Given the description of an element on the screen output the (x, y) to click on. 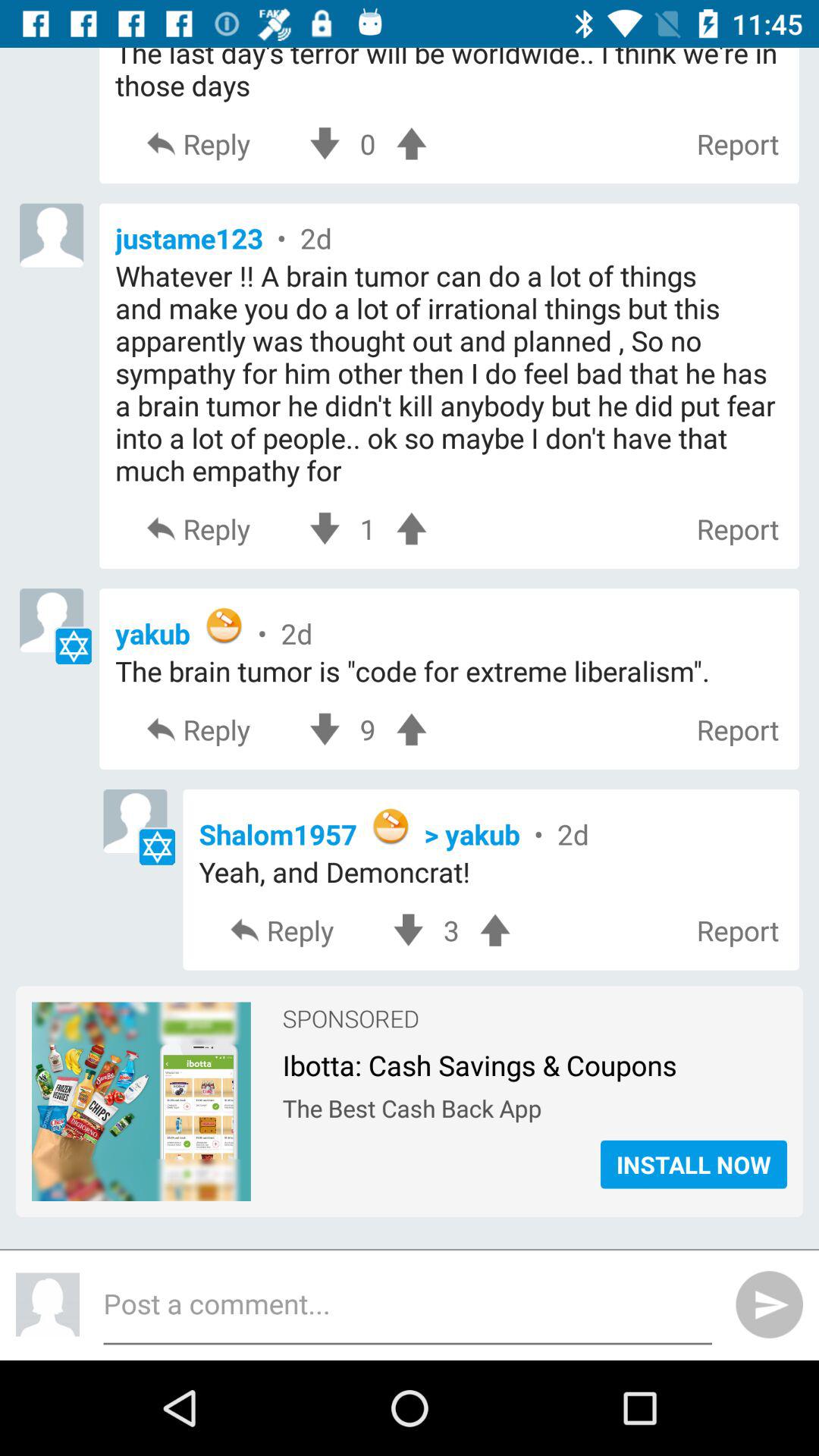
jump until ibotta cash savings (534, 1061)
